Given the description of an element on the screen output the (x, y) to click on. 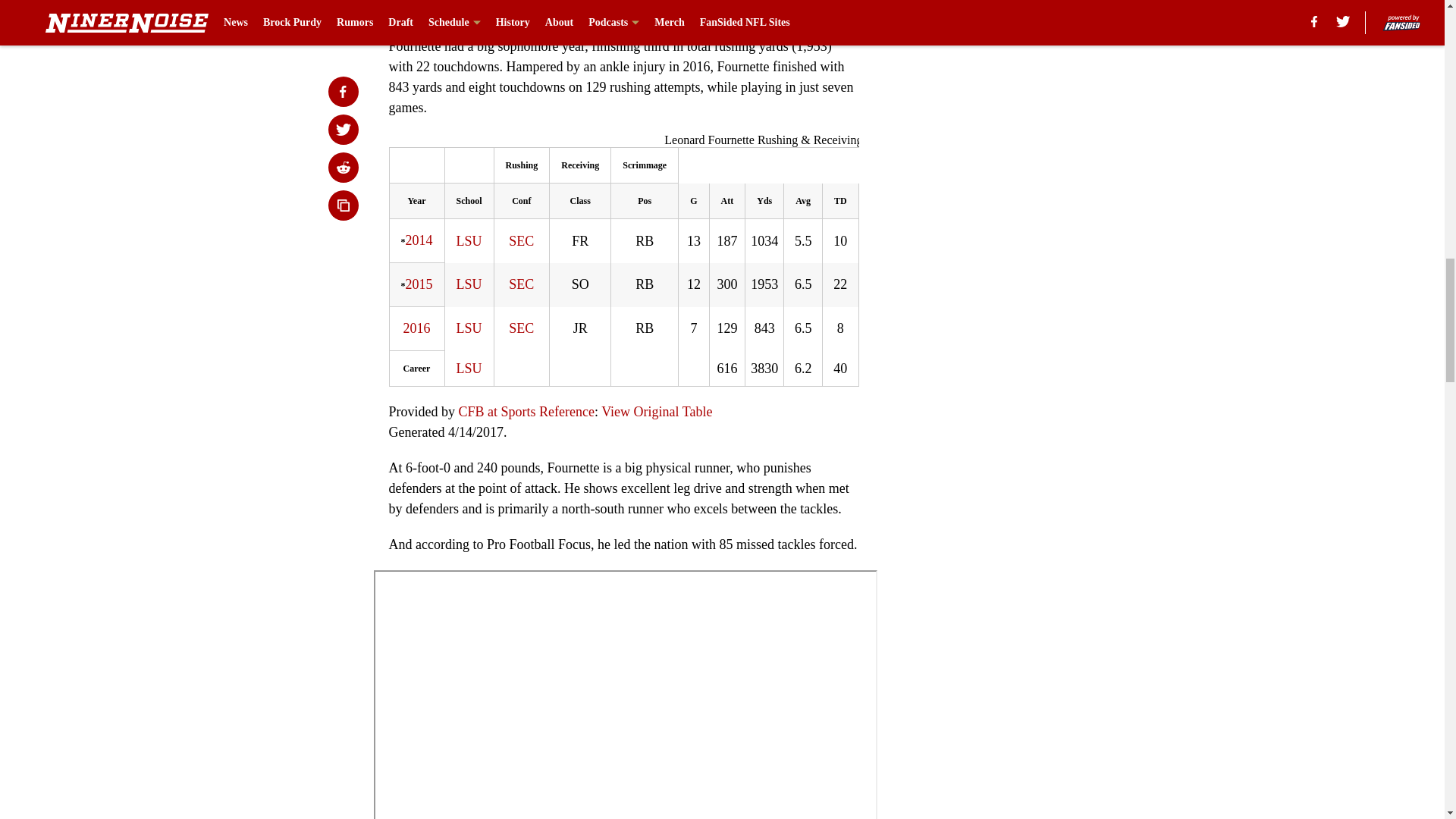
SEC (521, 283)
LSU (469, 283)
SEC (521, 328)
2015 (418, 283)
2016 (416, 328)
LSU (469, 328)
CFB at Sports Reference (526, 411)
LSU (469, 240)
LSU (469, 368)
No. 23 on theirs (616, 9)
SEC (521, 240)
View Original Table (656, 411)
2014 (418, 240)
